Given the description of an element on the screen output the (x, y) to click on. 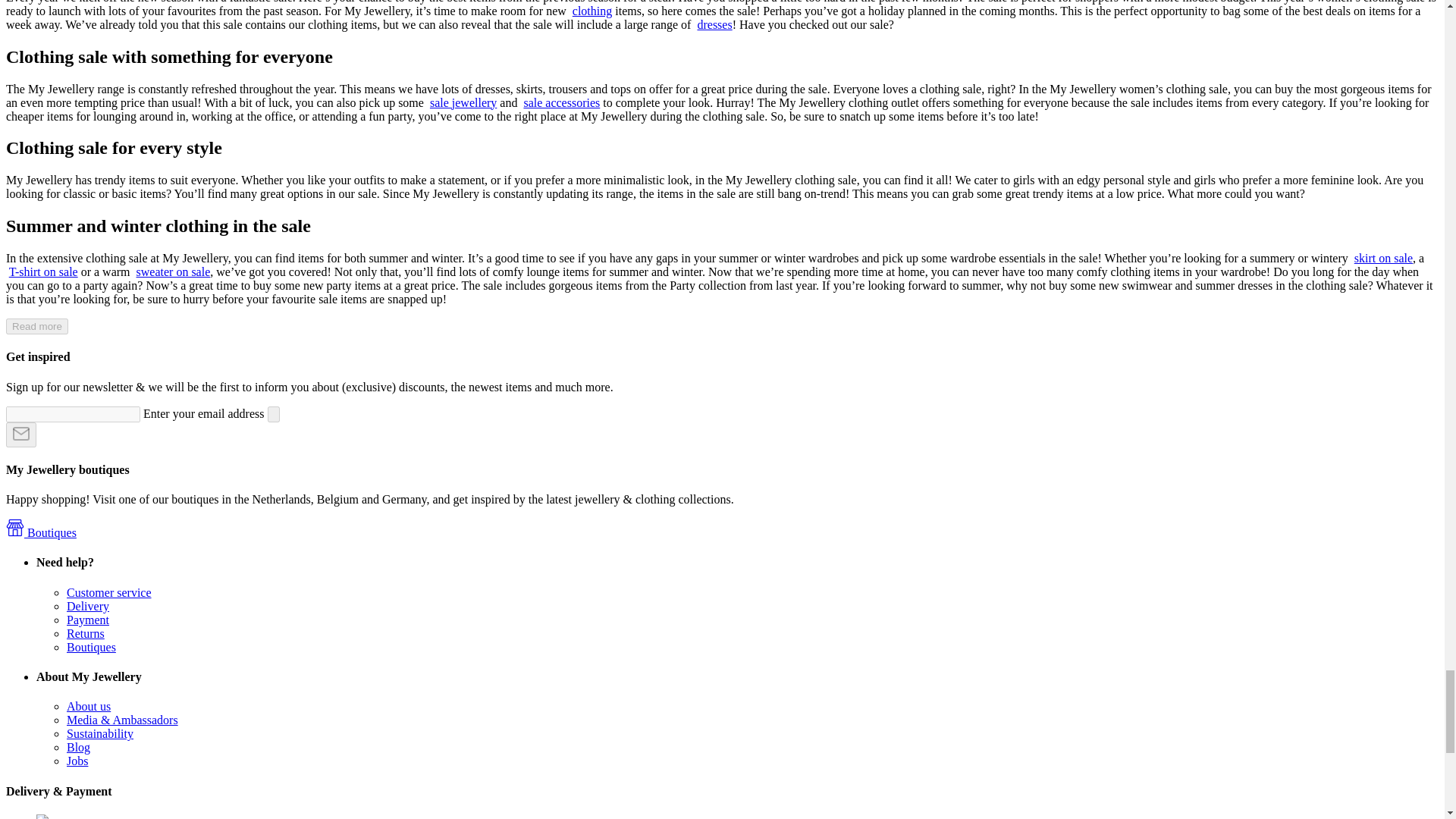
Boutiques (41, 532)
T-shirt on sale (43, 271)
sweater on sale (173, 271)
Subscribe (20, 434)
sale accessories (560, 101)
clothing (591, 10)
sale jewellery (462, 101)
dresses' (714, 24)
skirt on sale (1383, 257)
